Given the description of an element on the screen output the (x, y) to click on. 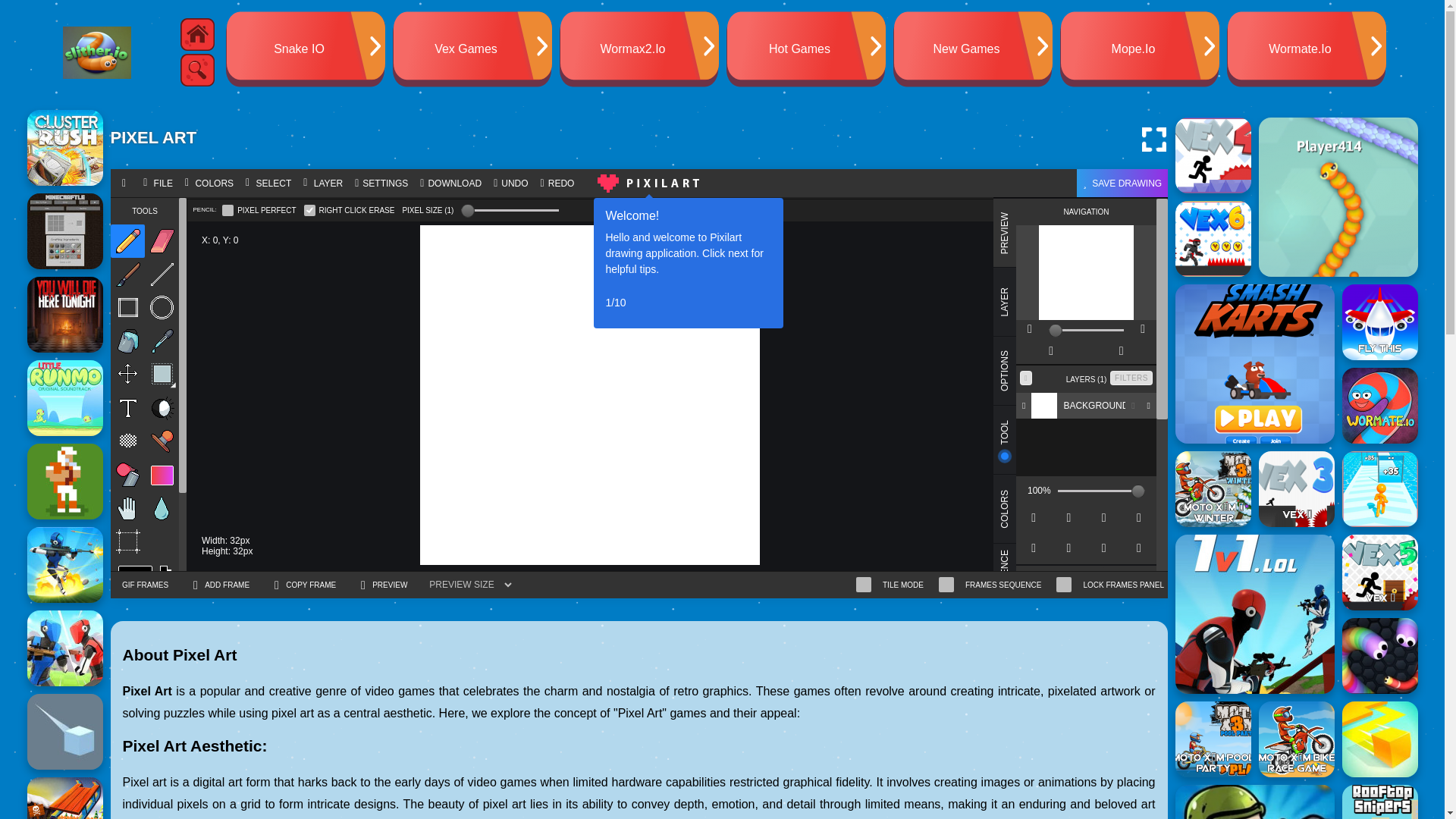
Hot Games (805, 48)
Snow Rider 3D Unblocked 66 (65, 798)
Snake io (1338, 196)
Meteor.io (65, 731)
Vex 4 (1212, 155)
New Games (972, 48)
Mope.Io (1139, 48)
Cluster Rush (65, 147)
fullscreen (1153, 139)
Little Runmo (65, 397)
Logo (96, 52)
Wormate.Io (1306, 48)
Retro Bowl Unblocked WTF (65, 481)
You Will Die Here Tonight (65, 314)
